Given the description of an element on the screen output the (x, y) to click on. 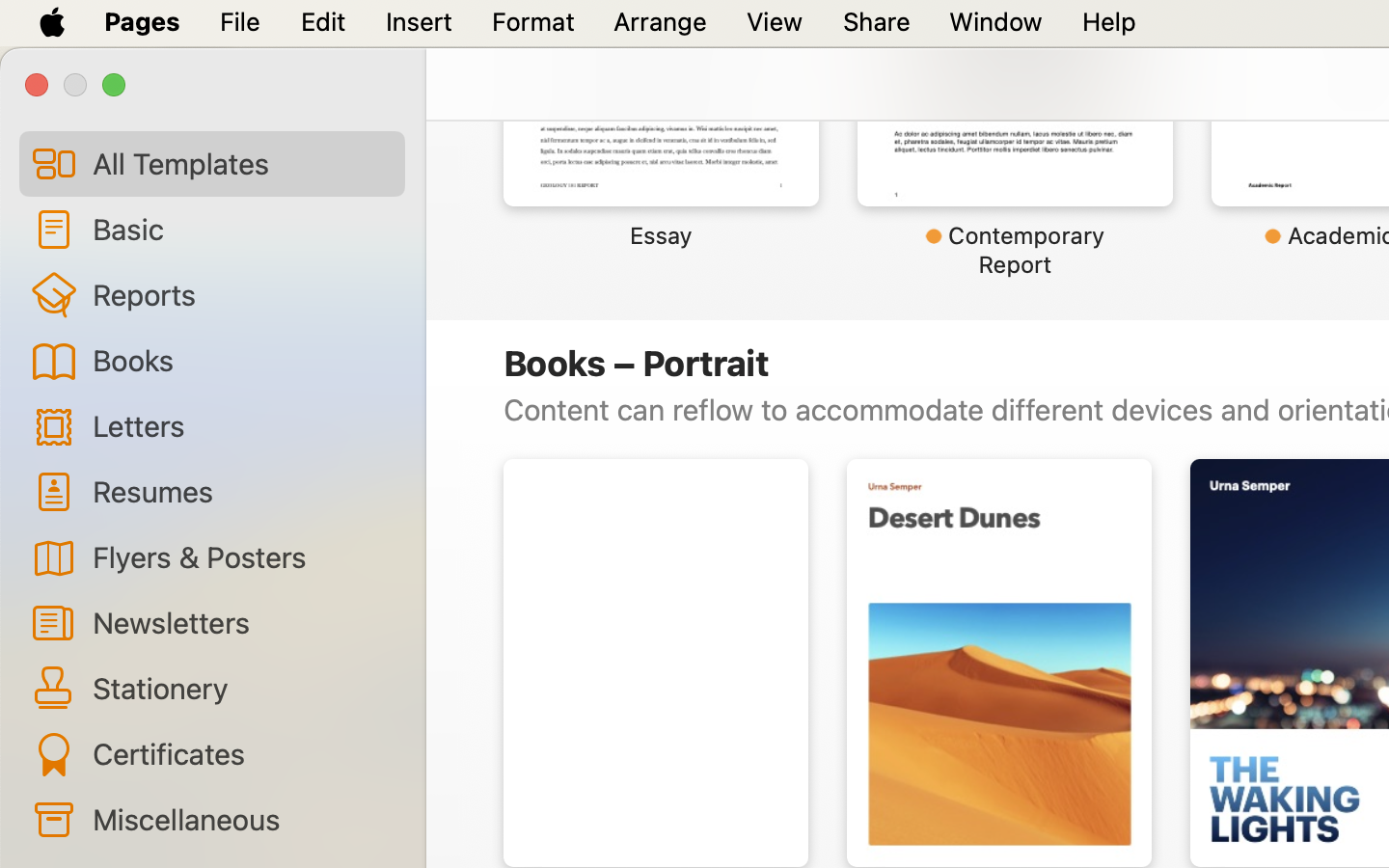
Flyers & Posters Element type: AXStaticText (240, 556)
Resumes Element type: AXStaticText (240, 490)
Books Element type: AXStaticText (240, 359)
Letters Element type: AXStaticText (240, 424)
Miscellaneous Element type: AXStaticText (240, 818)
